Given the description of an element on the screen output the (x, y) to click on. 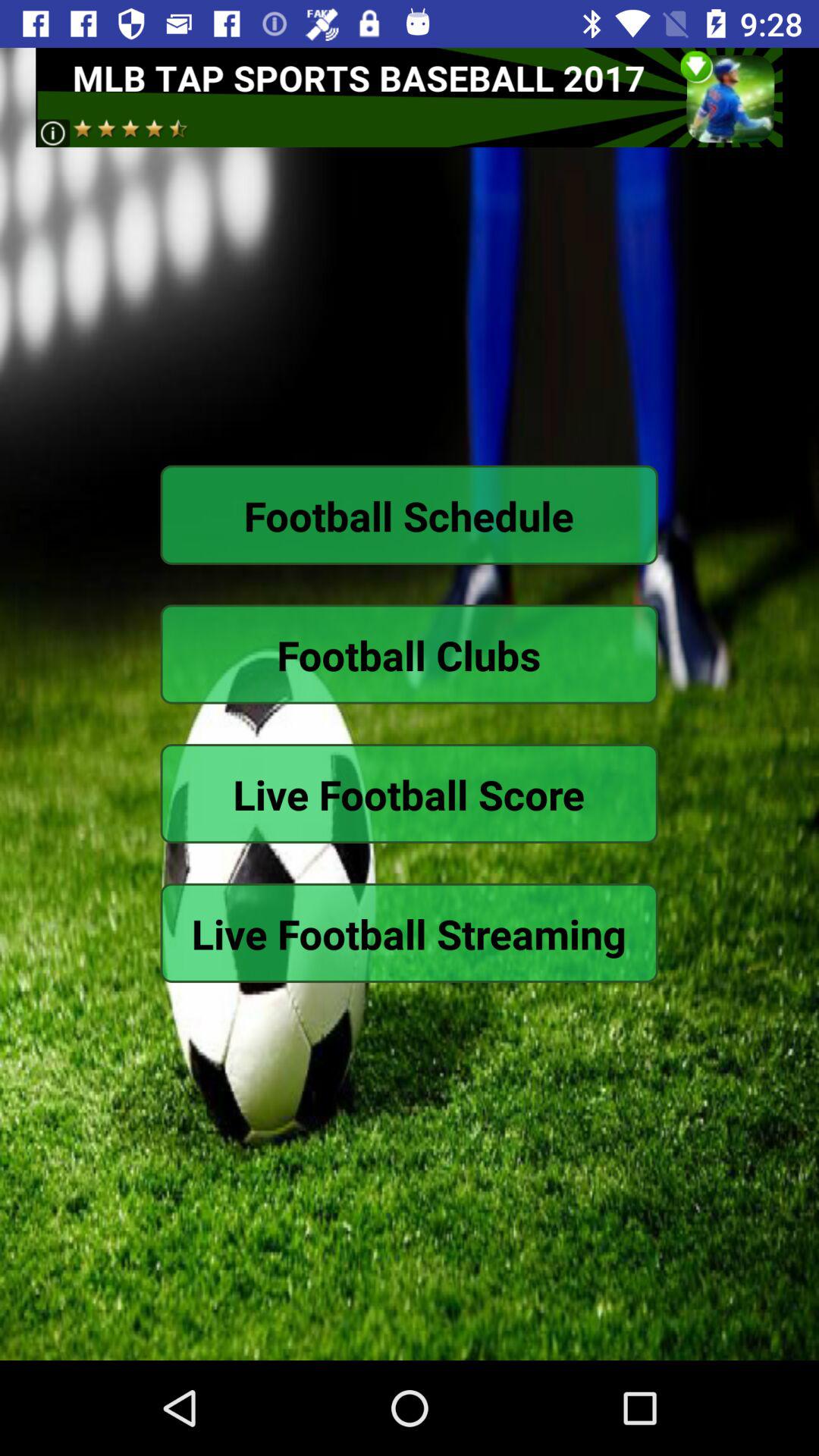
select the addvertisement (408, 97)
